Given the description of an element on the screen output the (x, y) to click on. 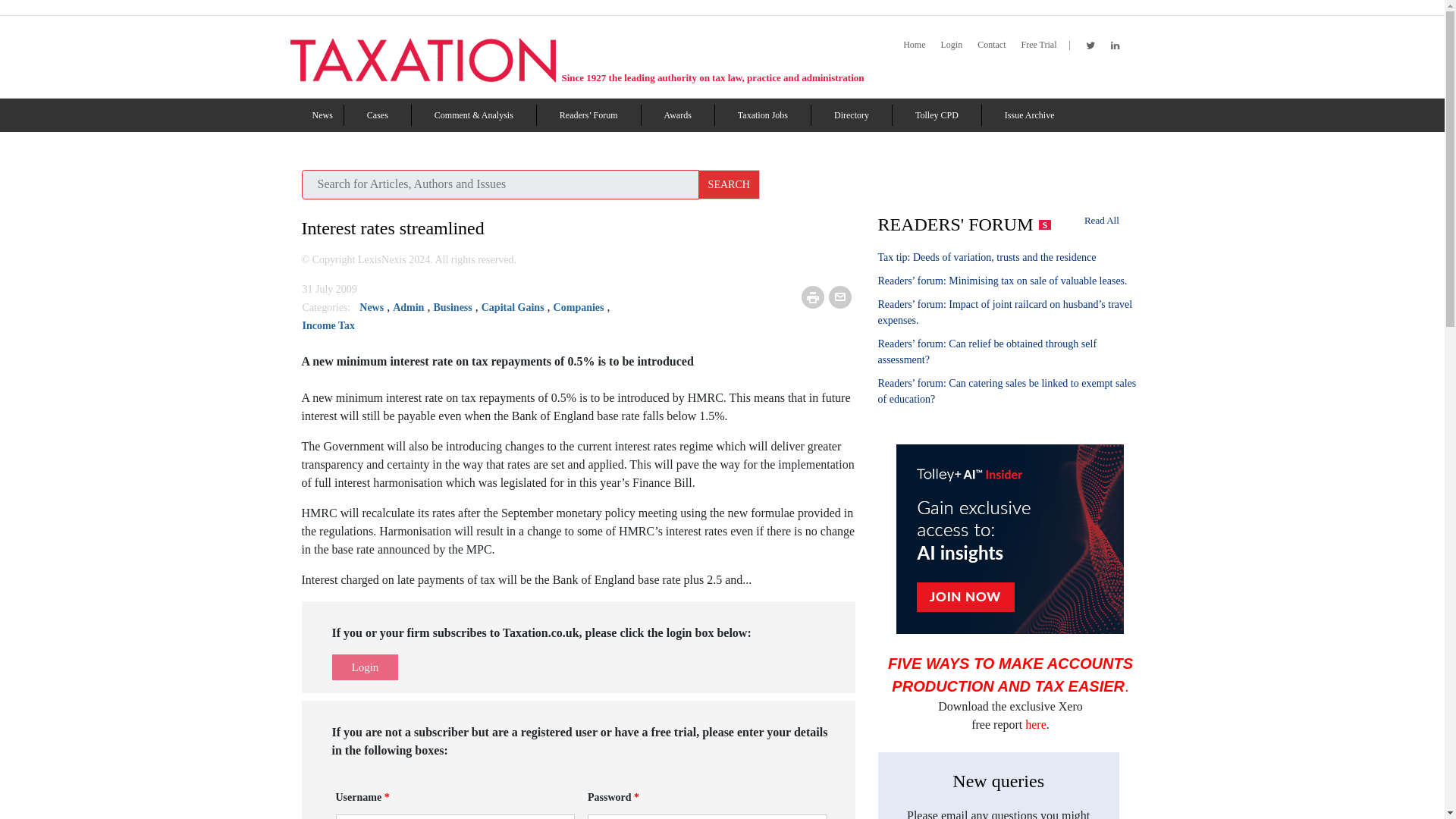
Contact (991, 44)
Tax cases (377, 115)
Cases (377, 115)
Tolley CPD (936, 115)
Taxation Jobs (762, 115)
Home (913, 44)
Directory (851, 115)
News (323, 115)
Taxation Jobs (762, 115)
Login (951, 44)
Awards (677, 115)
Free Trial (1038, 44)
News (323, 115)
Issue Archive (1029, 115)
Directory (851, 115)
